Given the description of an element on the screen output the (x, y) to click on. 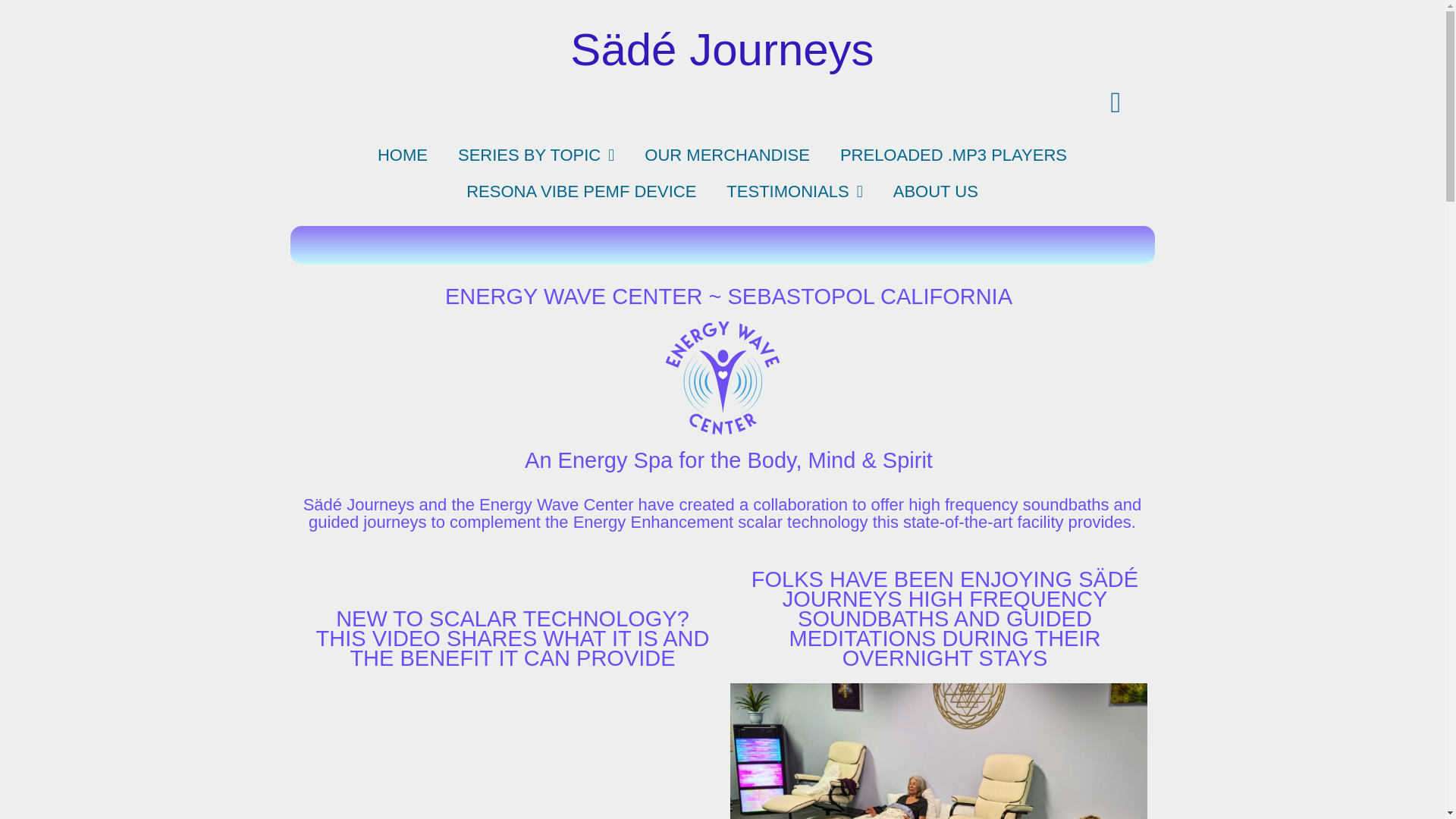
PRELOADED .MP3 PLAYERS (953, 155)
TESTIMONIALS (794, 191)
HOME (402, 155)
ABOUT US (934, 191)
SERIES BY TOPIC (535, 155)
OUR MERCHANDISE (726, 155)
RESONA VIBE PEMF DEVICE (581, 191)
